Given the description of an element on the screen output the (x, y) to click on. 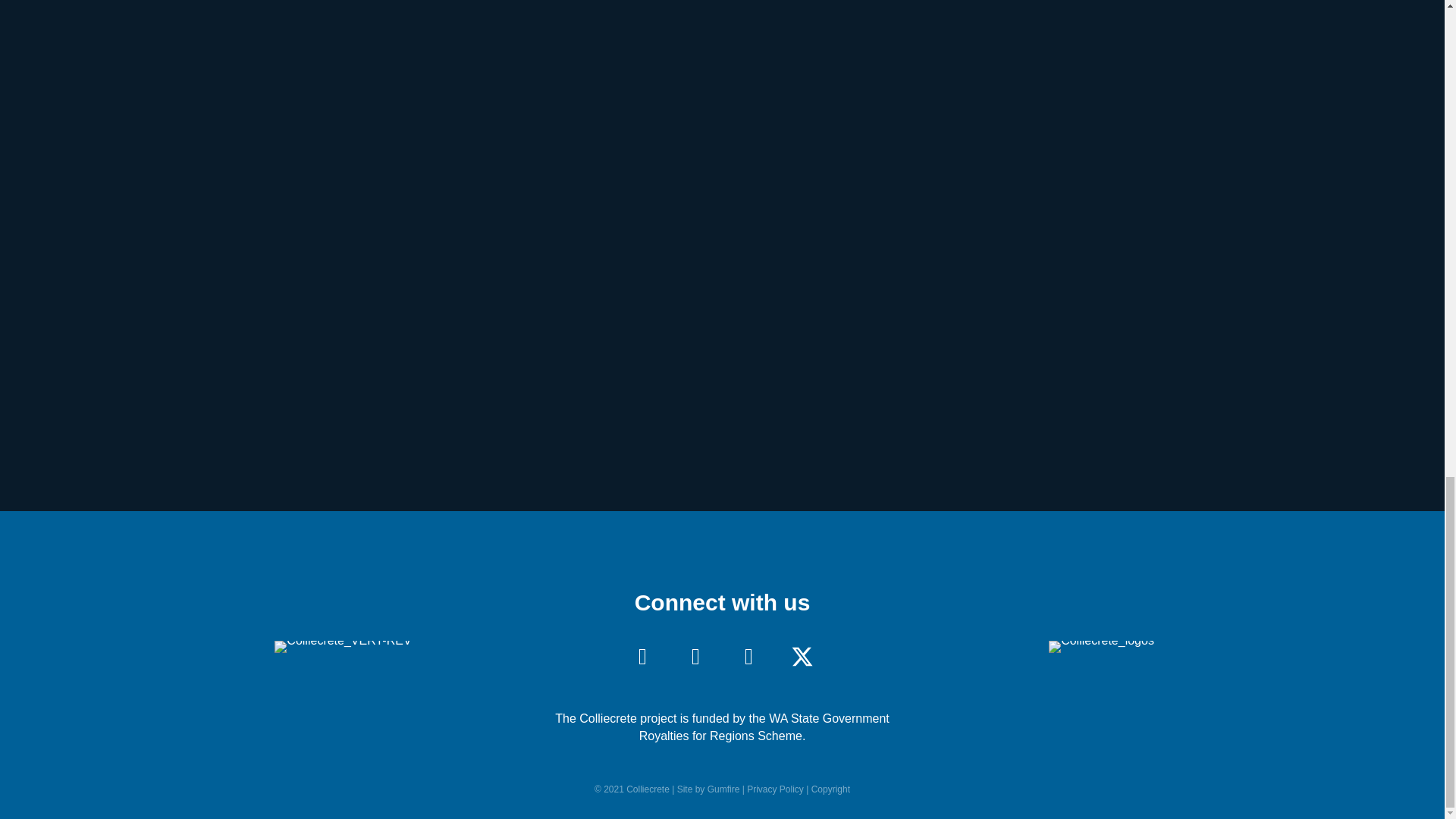
Facebook (695, 656)
Instagram (748, 656)
Email (642, 656)
Copyright (830, 788)
Gumfire (723, 788)
Privacy Policy (774, 788)
